Given the description of an element on the screen output the (x, y) to click on. 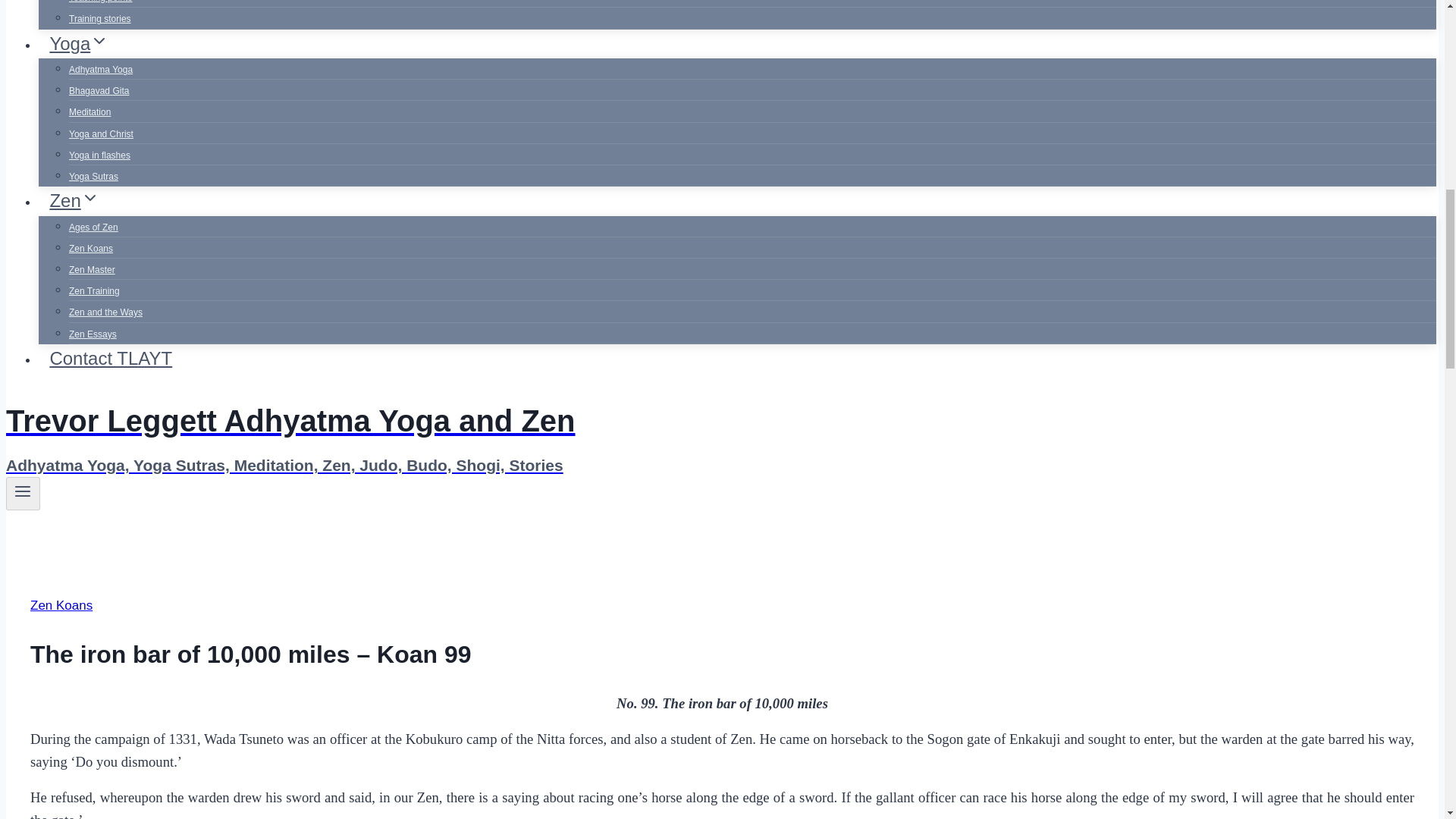
Ages of Zen (92, 226)
Zen Master (91, 269)
Expand (98, 40)
Toggle Menu (22, 491)
Meditation (89, 111)
YogaExpand (79, 43)
Yoga Sutras (92, 176)
Yoga in flashes (99, 154)
Zen Koans (90, 248)
Training stories (99, 18)
